Given the description of an element on the screen output the (x, y) to click on. 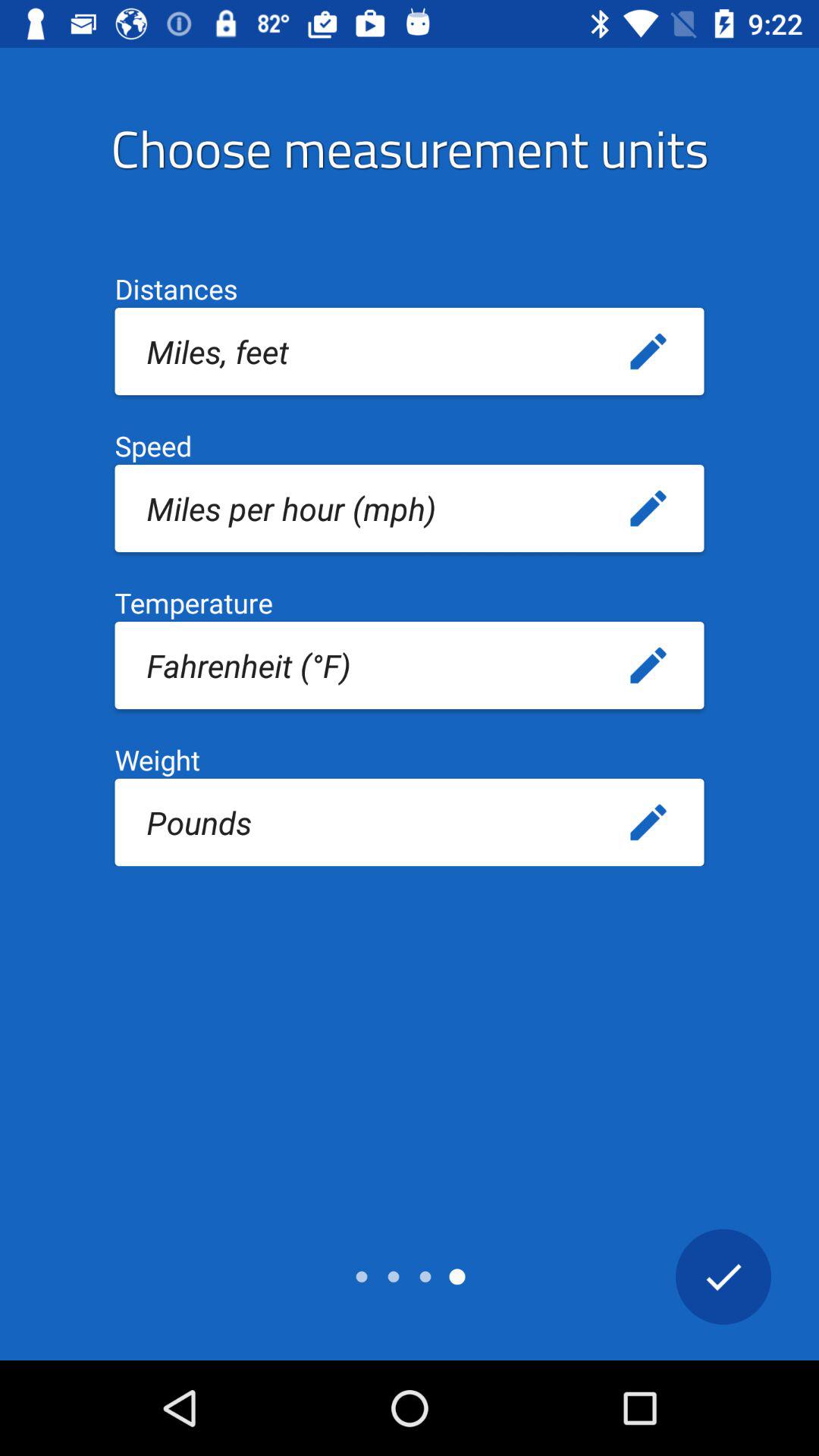
the option of tick (723, 1276)
